Given the description of an element on the screen output the (x, y) to click on. 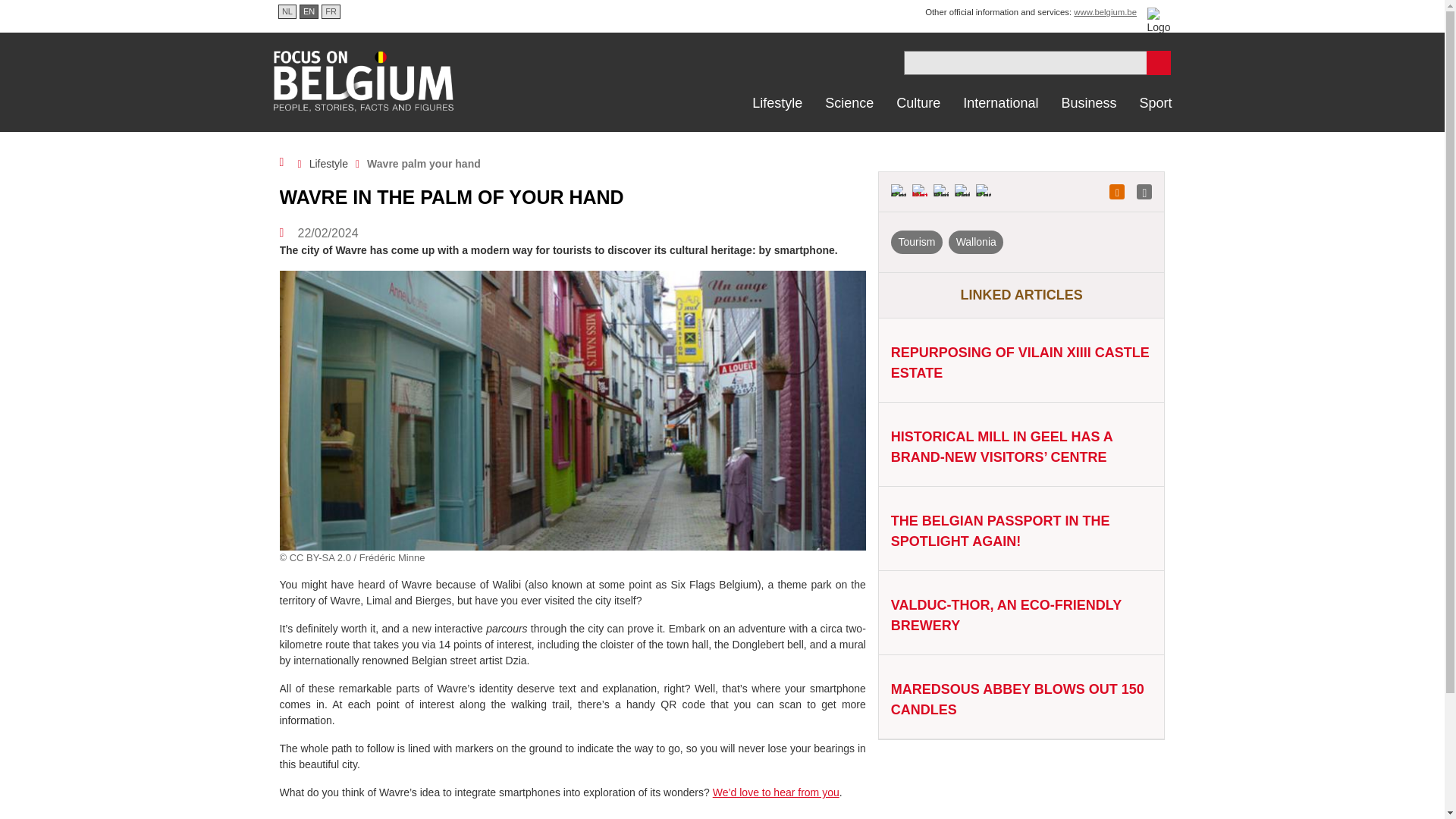
FR (330, 11)
RSS (1116, 191)
Wavre dans la paume de la main (330, 11)
facebook (983, 191)
Sport (1154, 102)
International (1000, 102)
EN (308, 11)
Tourism (916, 241)
linkedin (962, 191)
googleplus (898, 191)
